Given the description of an element on the screen output the (x, y) to click on. 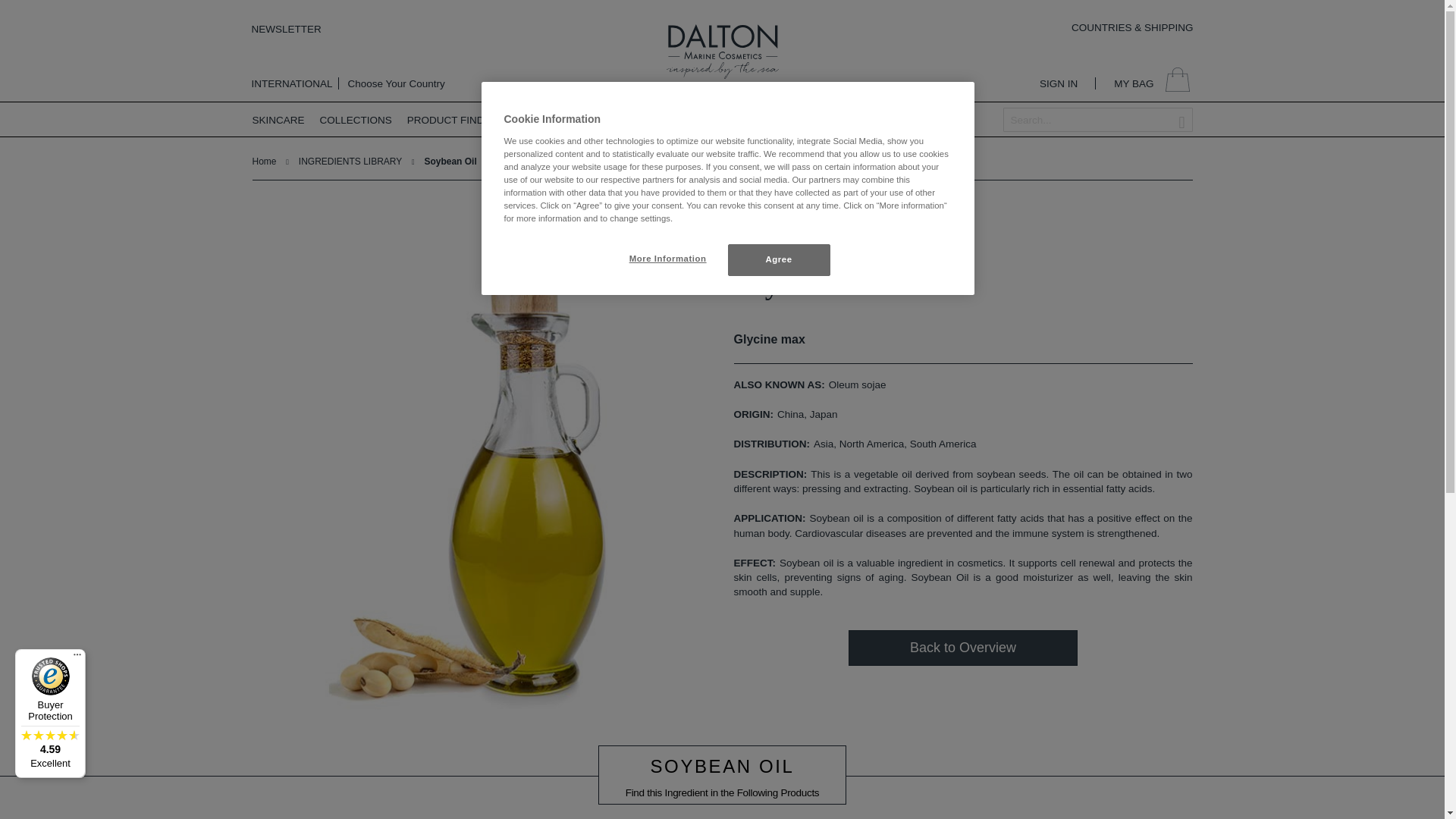
SIGN IN (1058, 83)
INTERNATIONAL (292, 83)
Skincare (283, 119)
MY BAG (1152, 80)
NEWSLETTER (286, 28)
SKINCARE (283, 119)
